Given the description of an element on the screen output the (x, y) to click on. 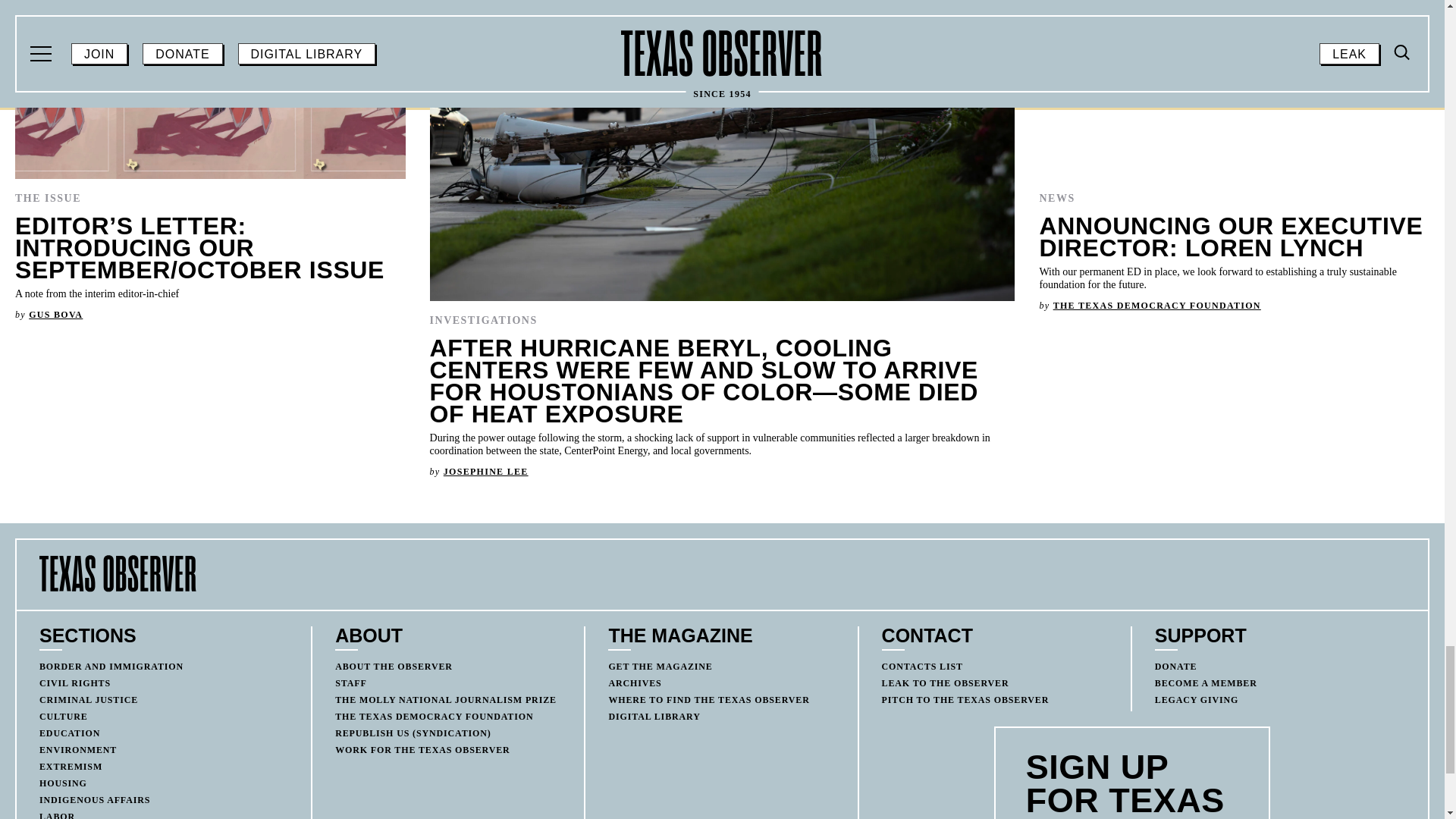
Post by Gus Bova (55, 314)
Post by Josephine Lee (486, 471)
Post by The Texas Democracy Foundation (1156, 305)
